Given the description of an element on the screen output the (x, y) to click on. 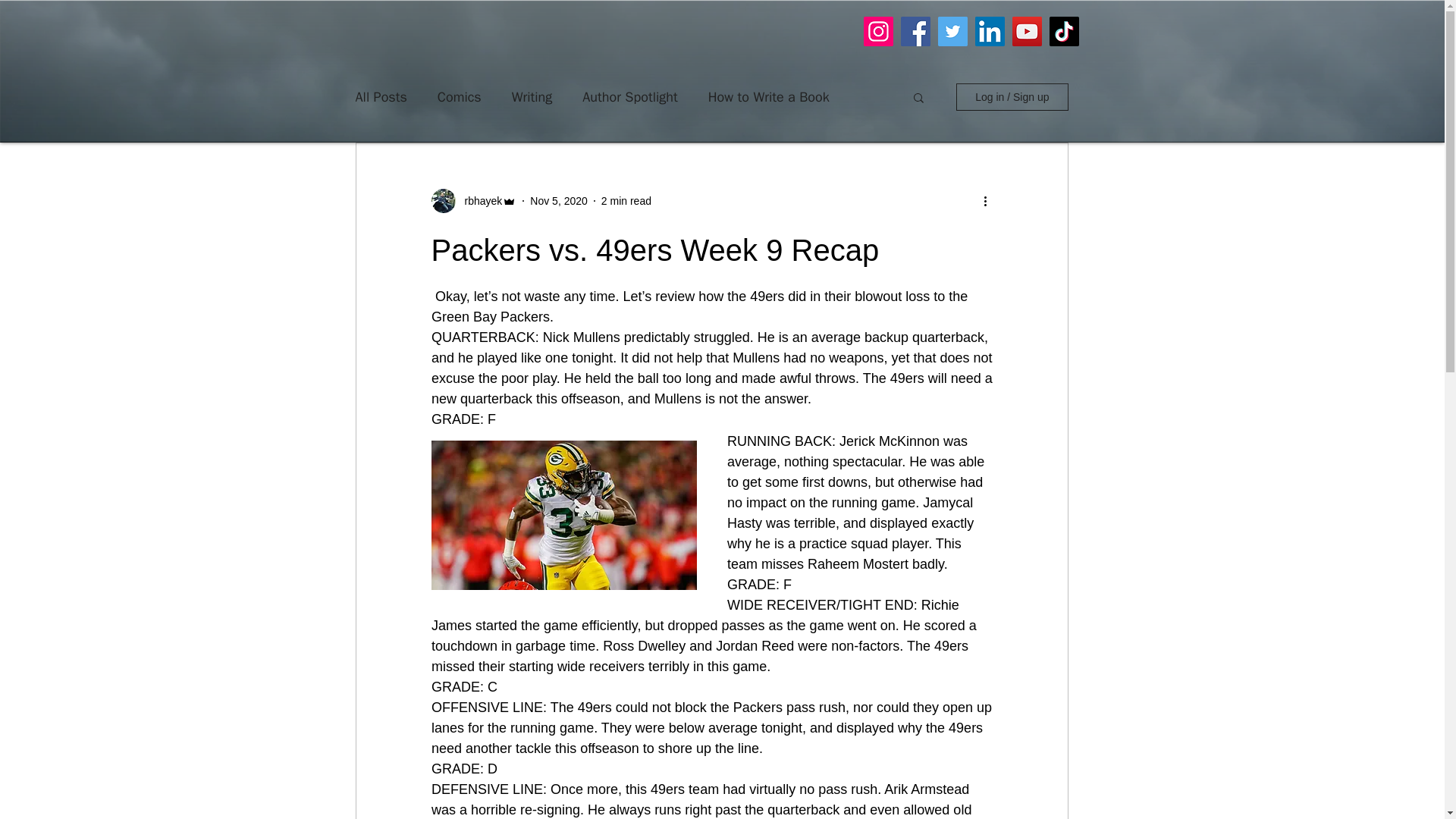
All Posts (380, 96)
Author Spotlight (629, 96)
rbhayek (478, 200)
How to Write a Book (768, 96)
Nov 5, 2020 (558, 200)
Comics (459, 96)
2 min read (625, 200)
Writing (532, 96)
